Given the description of an element on the screen output the (x, y) to click on. 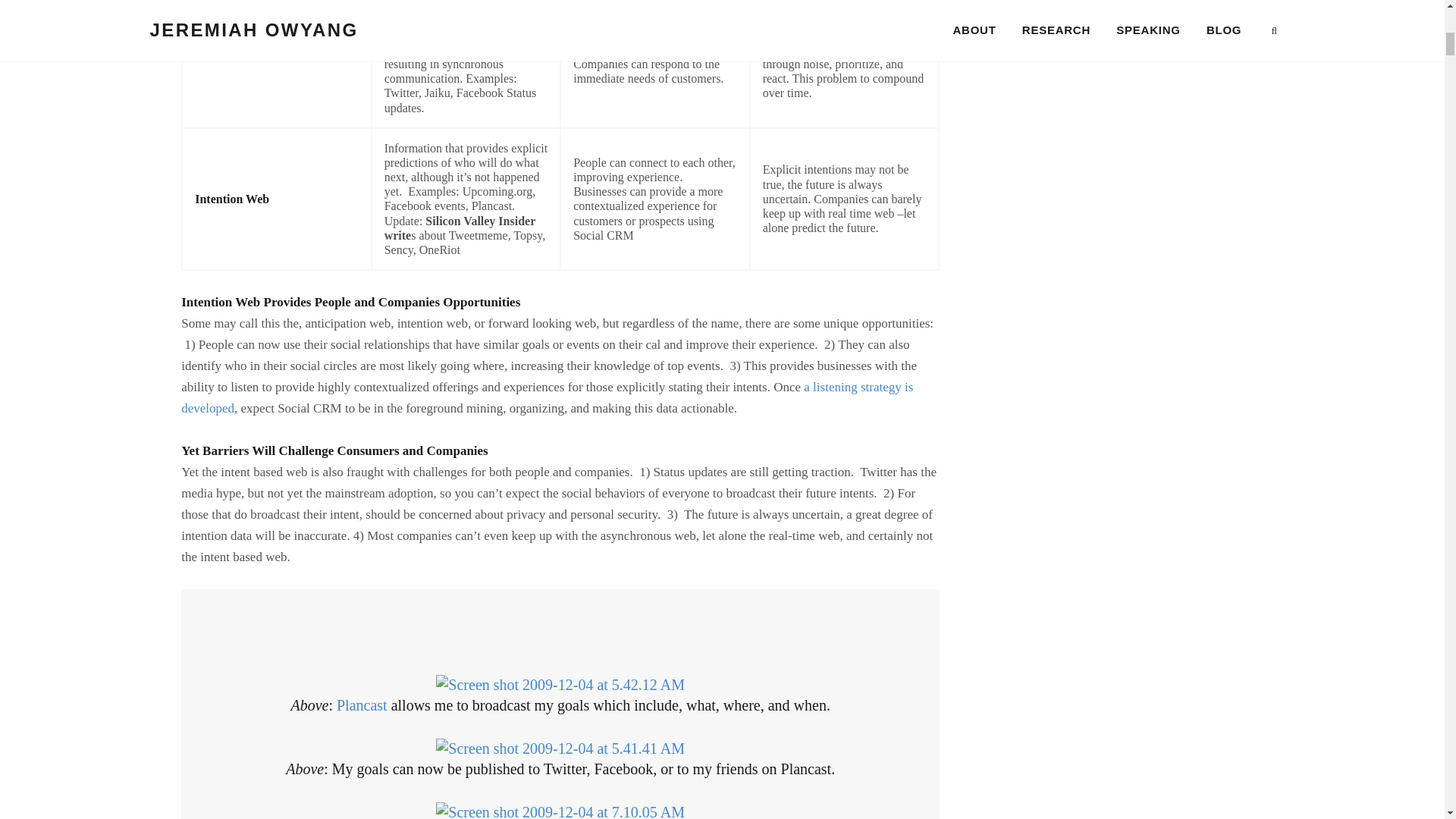
Silicon Valley Insider write (459, 227)
a listening strategy is developed (546, 397)
Plancast (361, 704)
